Given the description of an element on the screen output the (x, y) to click on. 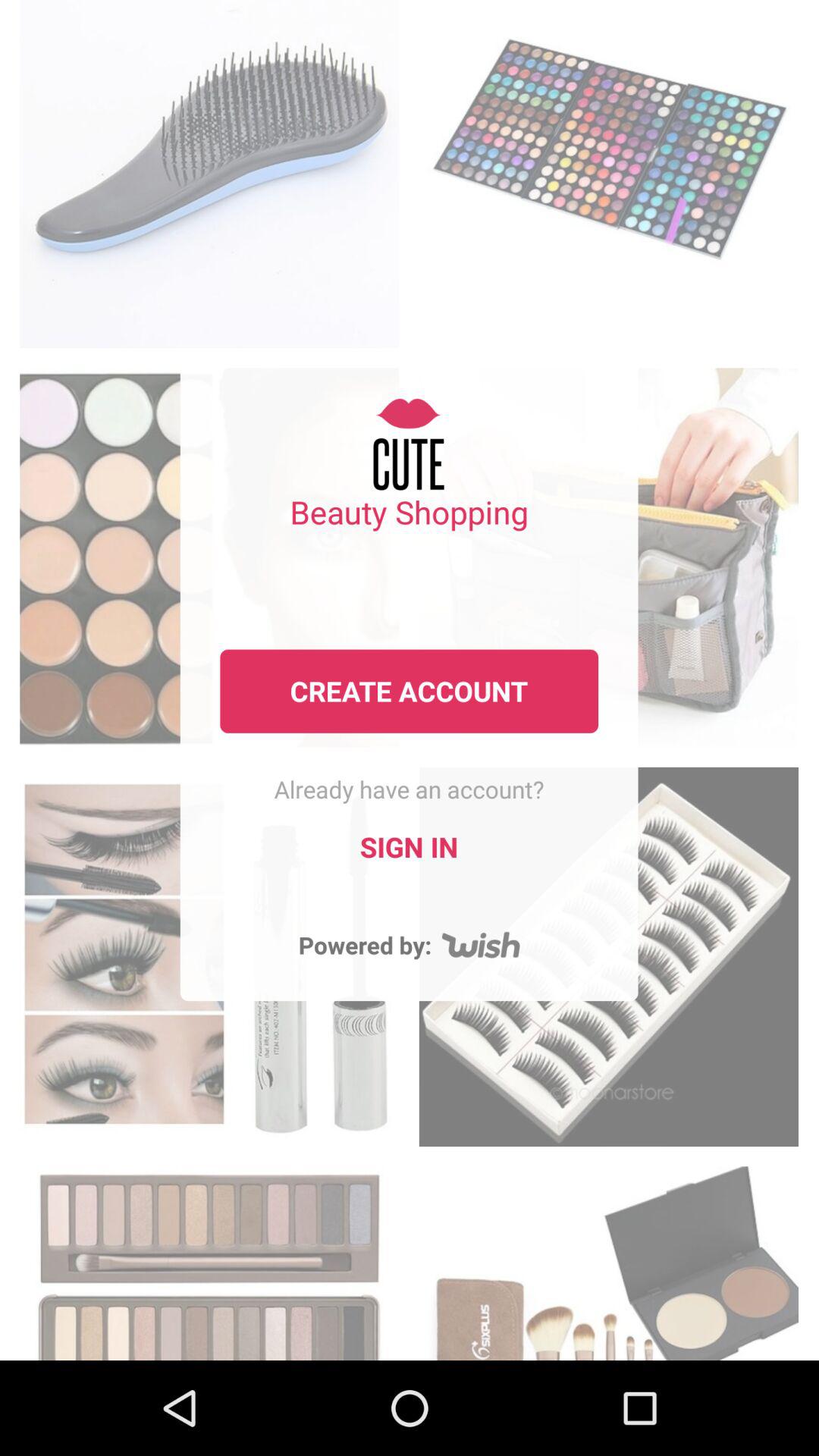
go to the page (209, 170)
